Given the description of an element on the screen output the (x, y) to click on. 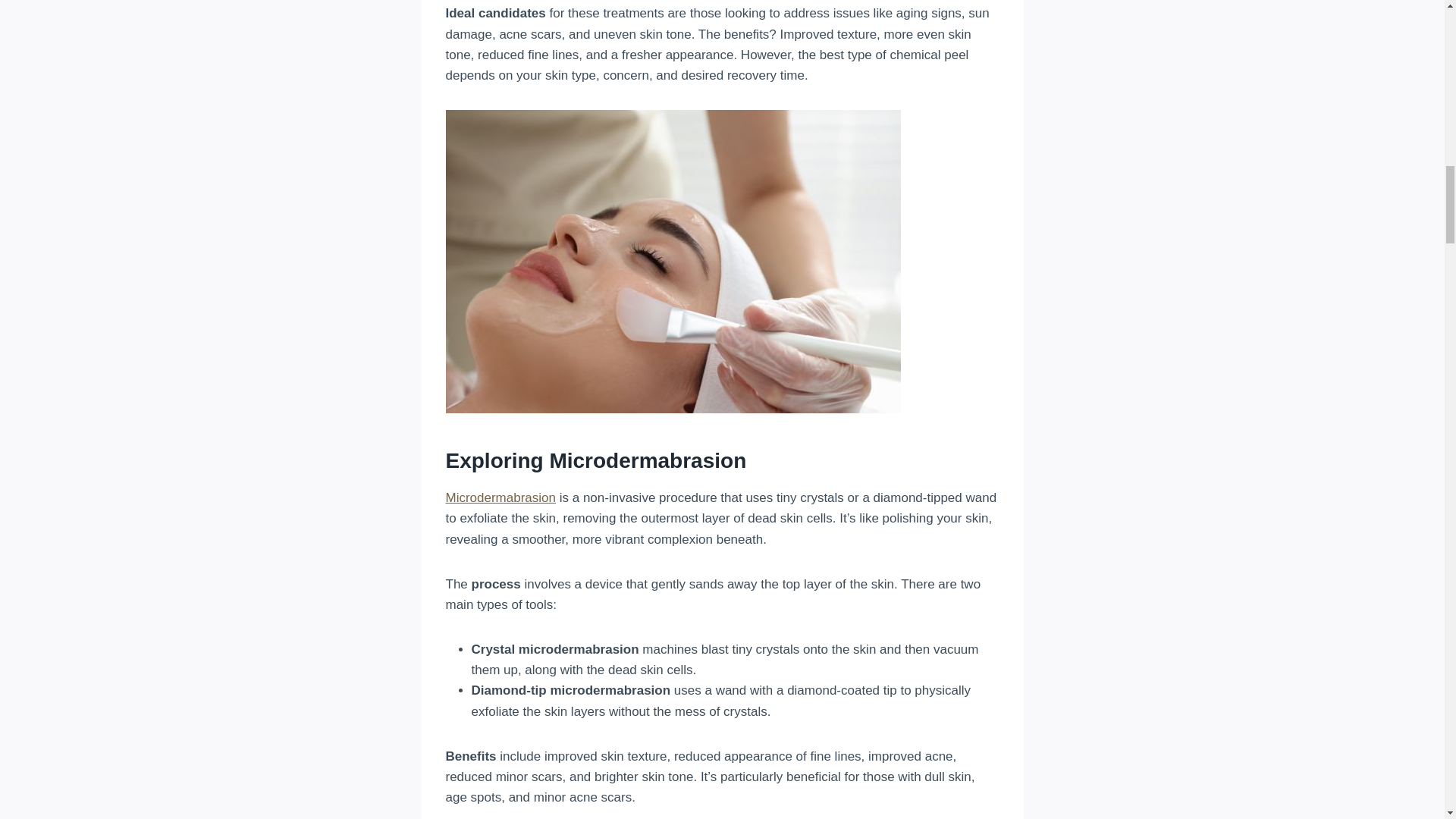
Microdermabrasion (500, 497)
